Given the description of an element on the screen output the (x, y) to click on. 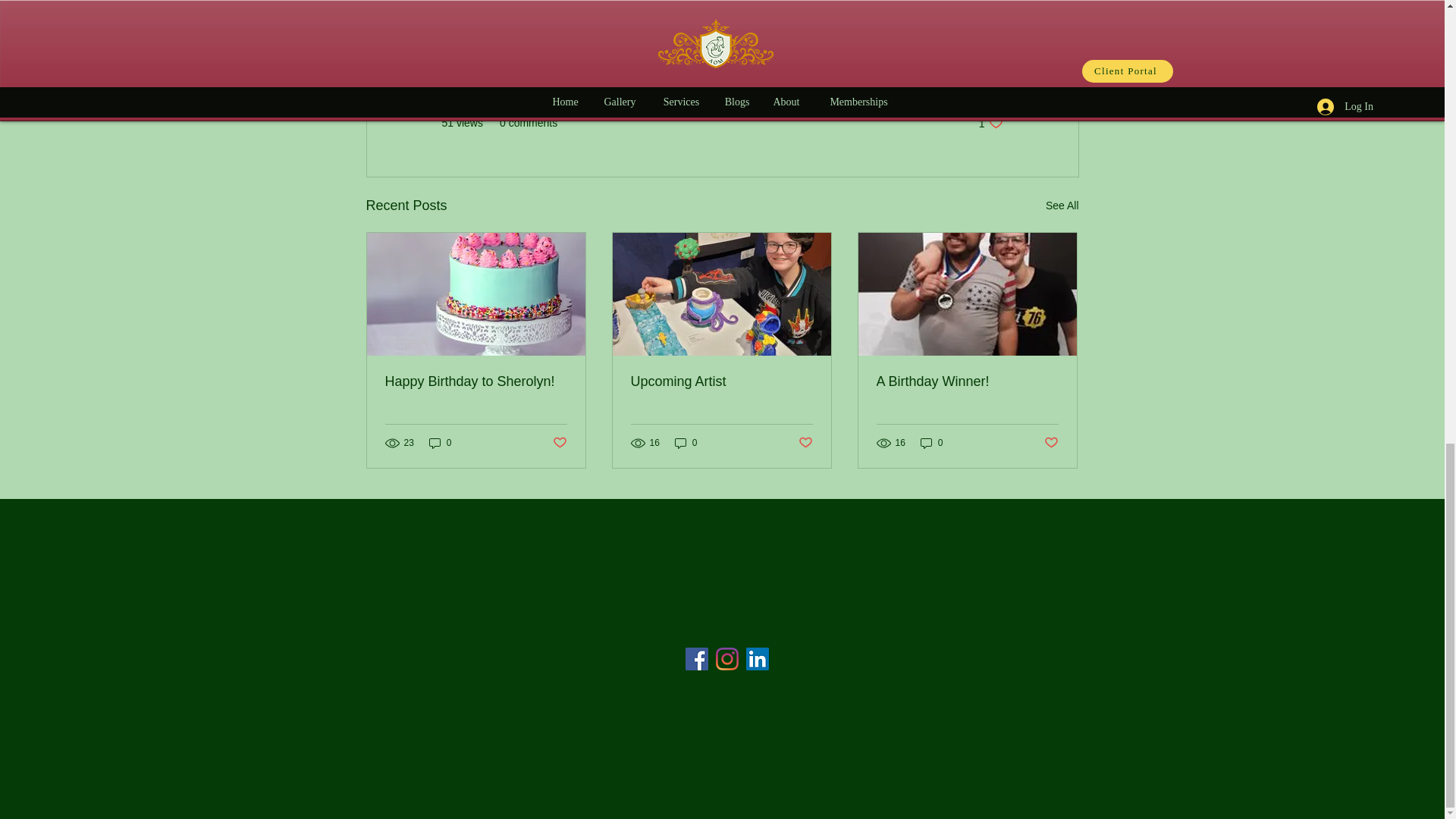
Post not marked as liked (804, 442)
Post not marked as liked (990, 123)
Personal Shout-Outs (558, 442)
See All (953, 78)
0 (1061, 205)
Upcoming Artist (931, 442)
0 (721, 381)
0 (440, 442)
Happy Birthday to Sherolyn! (685, 442)
